Given the description of an element on the screen output the (x, y) to click on. 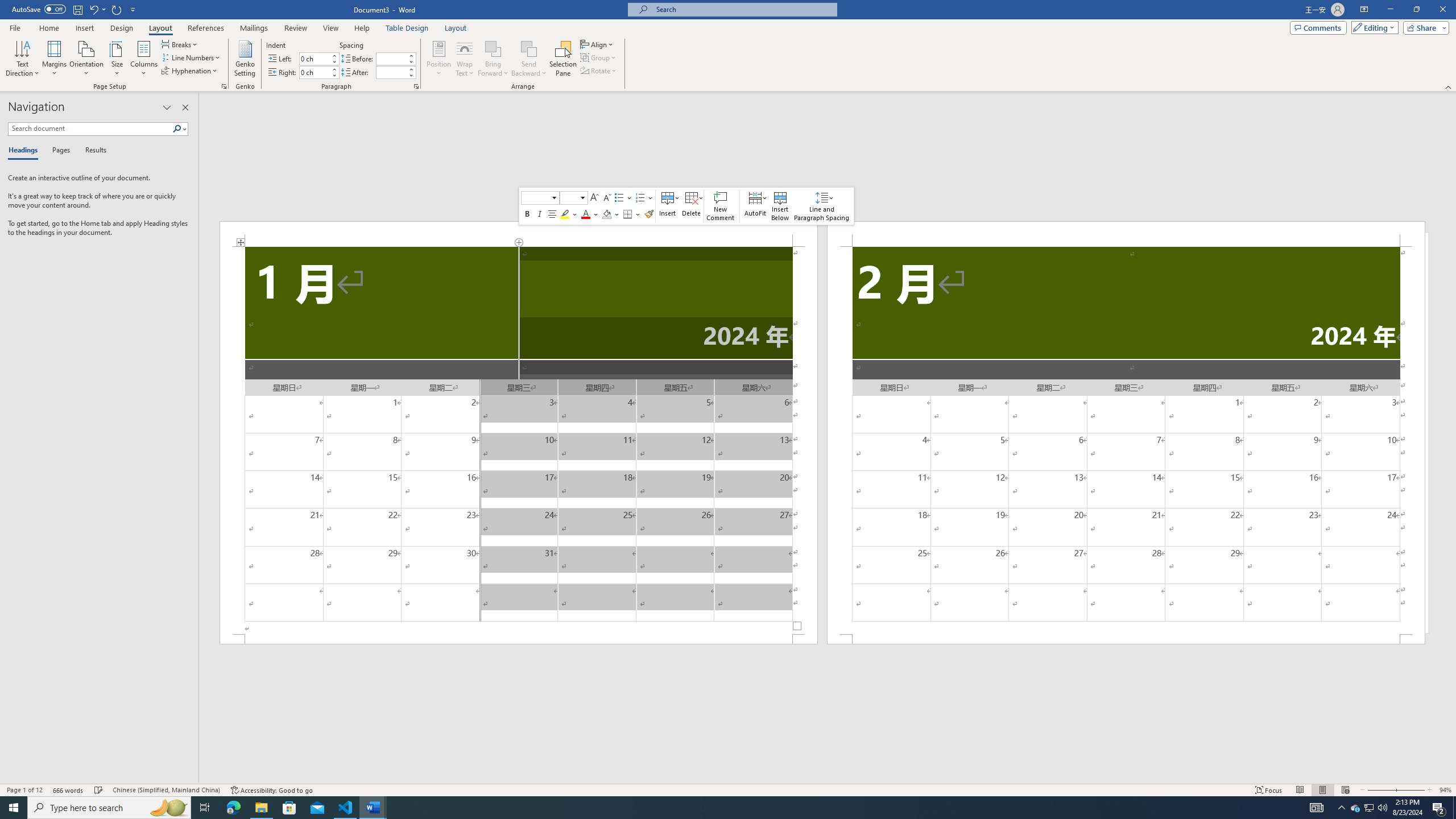
Text Direction (22, 58)
Header -Section 2- (1126, 233)
Indent Left (314, 58)
Line Numbers (191, 56)
New Comment (720, 205)
Class: NetUIAnchor (821, 205)
Selection Pane... (563, 58)
